Given the description of an element on the screen output the (x, y) to click on. 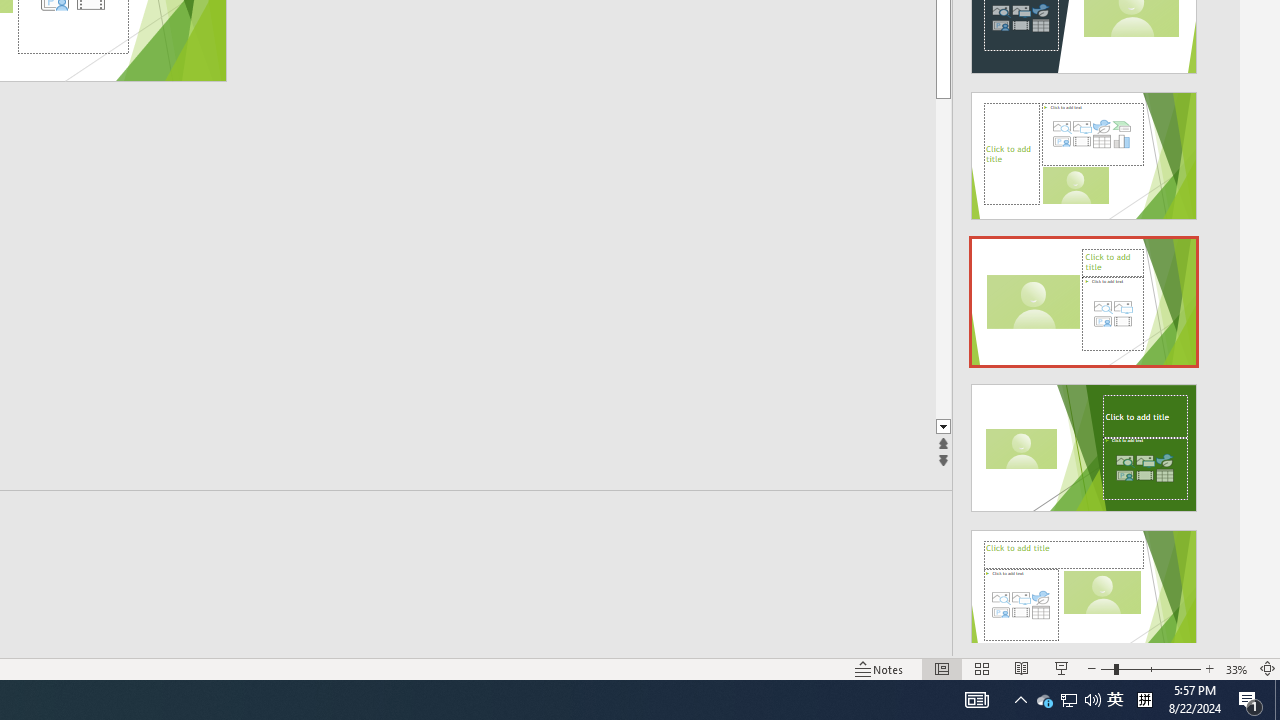
Zoom 33% (1236, 668)
Design Idea (1083, 587)
Page down (1011, 258)
